Given the description of an element on the screen output the (x, y) to click on. 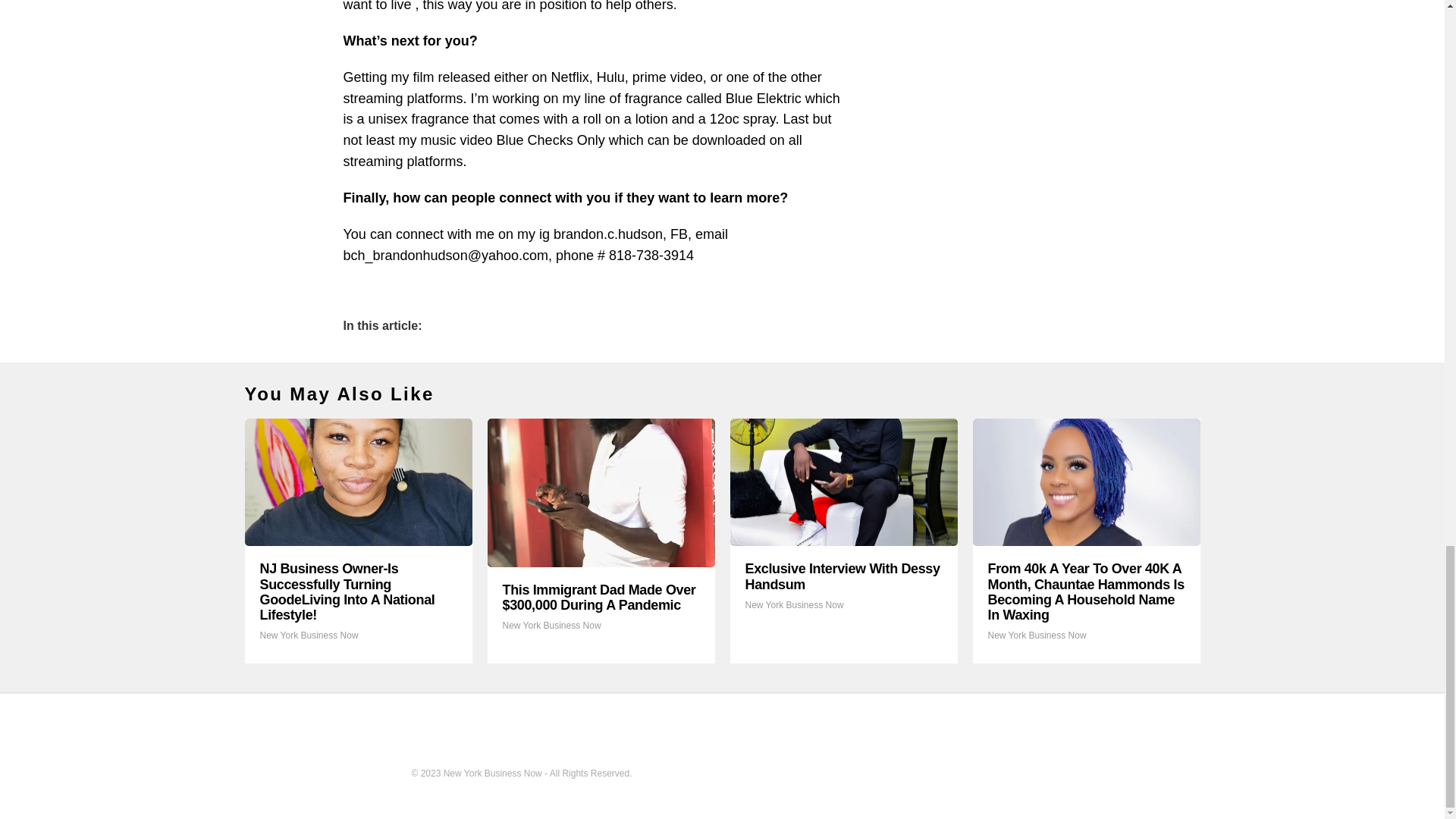
Posts by New York Business Now (1036, 634)
Posts by New York Business Now (550, 624)
Posts by New York Business Now (308, 634)
Posts by New York Business Now (793, 604)
